Given the description of an element on the screen output the (x, y) to click on. 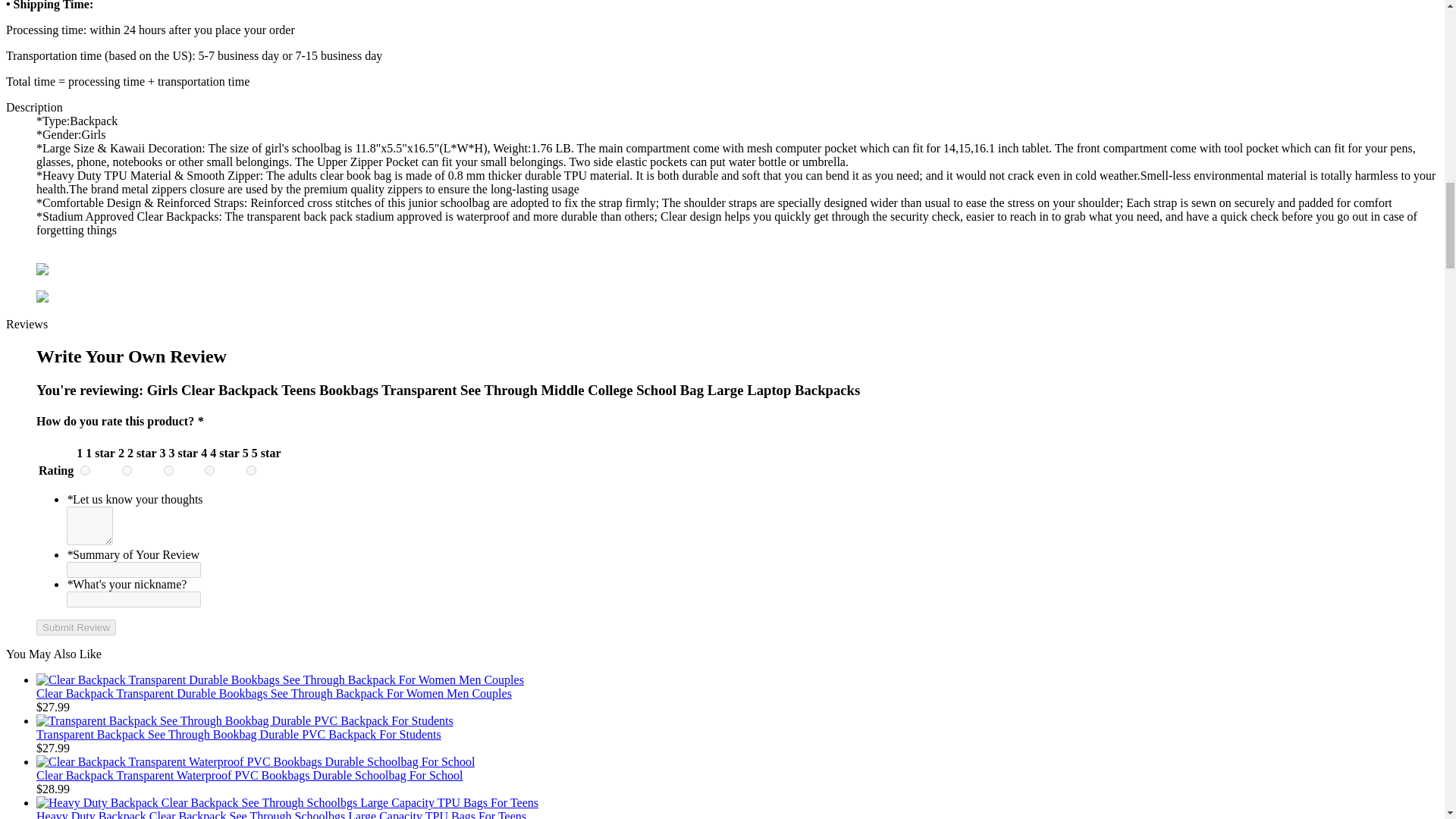
4 (209, 470)
5 (251, 470)
1 (85, 470)
2 (127, 470)
Submit Review (76, 627)
3 (168, 470)
